Given the description of an element on the screen output the (x, y) to click on. 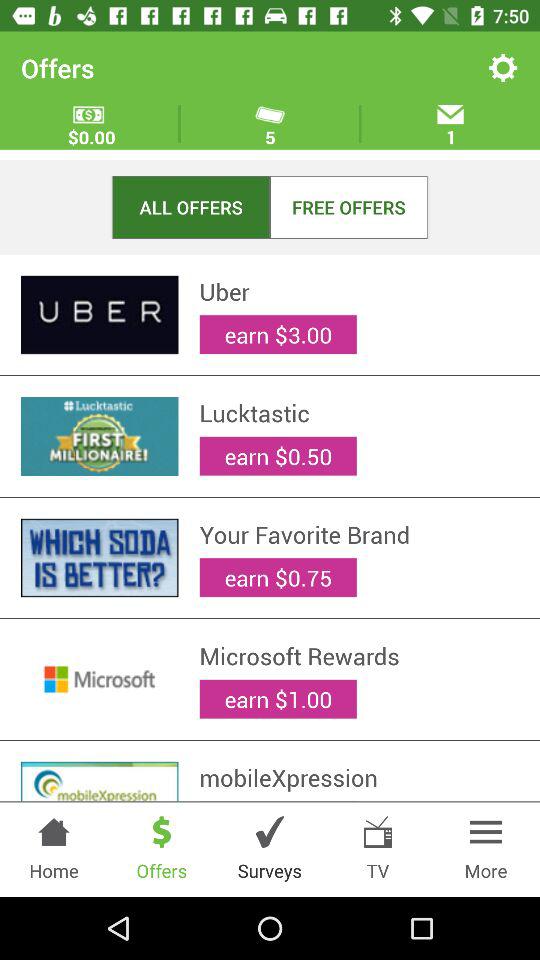
launch the icon next to the free offers item (191, 206)
